Given the description of an element on the screen output the (x, y) to click on. 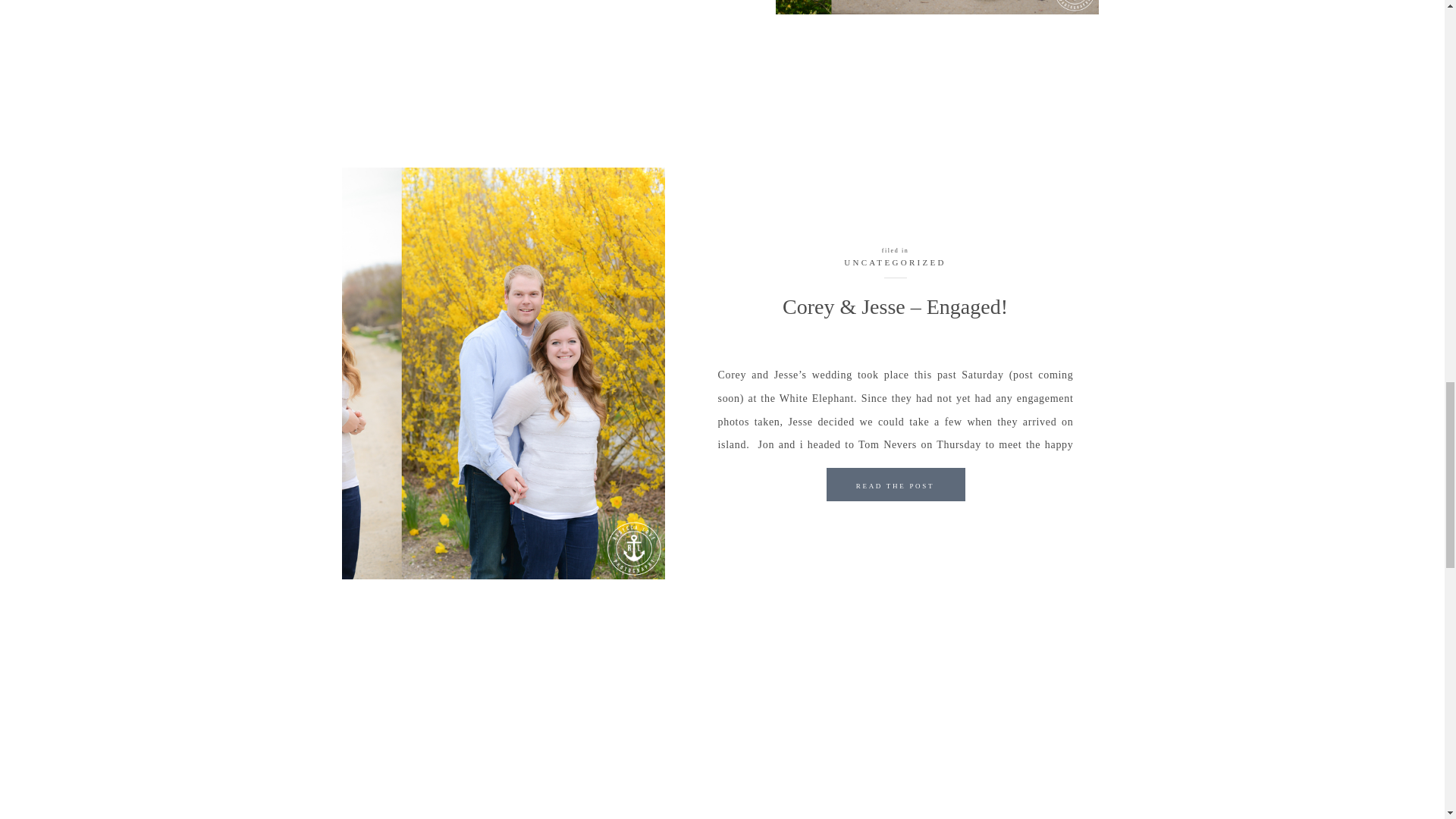
Happy 1st Birthday! (935, 7)
READ THE POST (895, 488)
UNCATEGORIZED (895, 261)
